Given the description of an element on the screen output the (x, y) to click on. 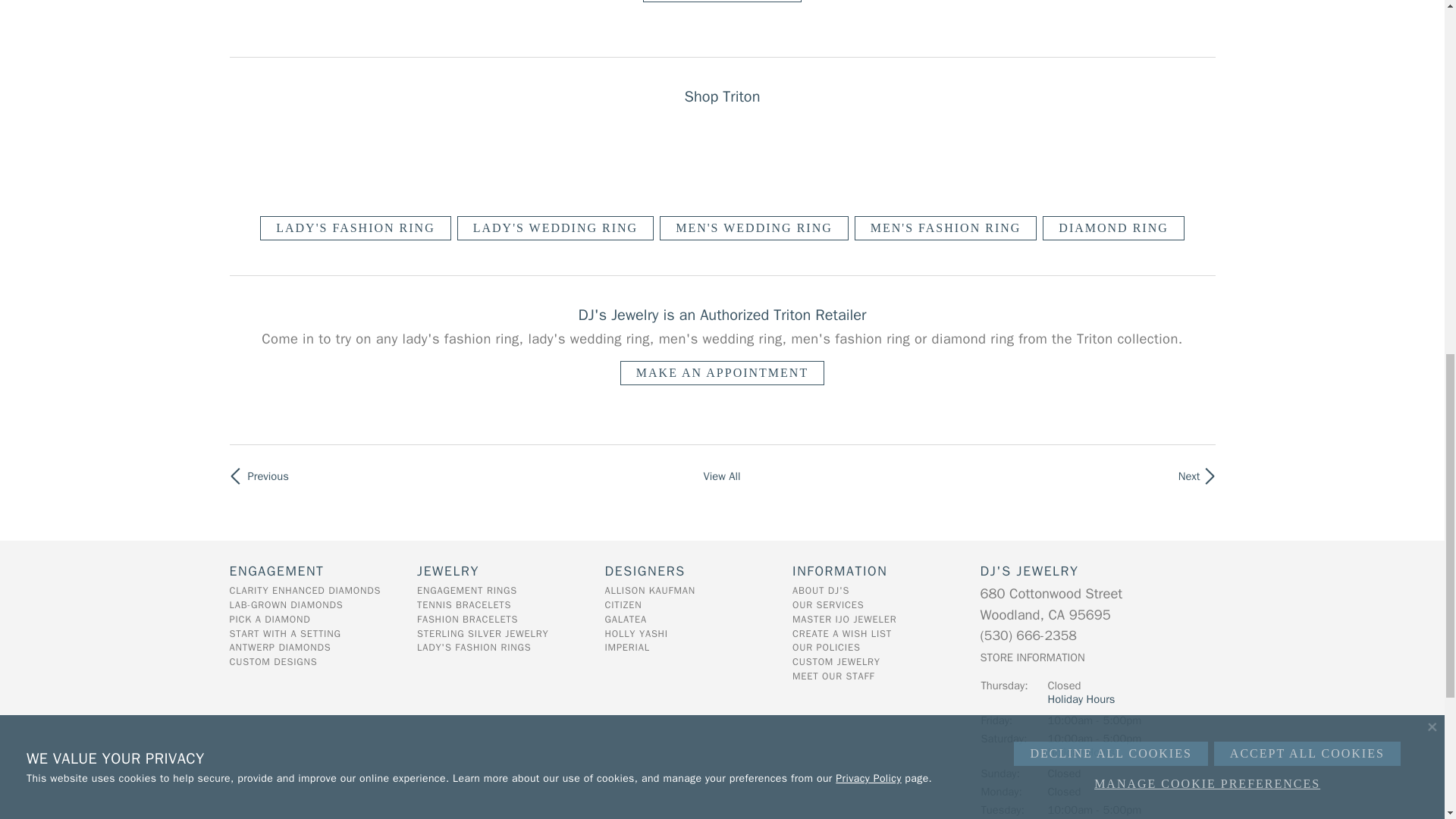
William Henry (1183, 475)
Parle Gems (261, 475)
View All brands (721, 475)
